Given the description of an element on the screen output the (x, y) to click on. 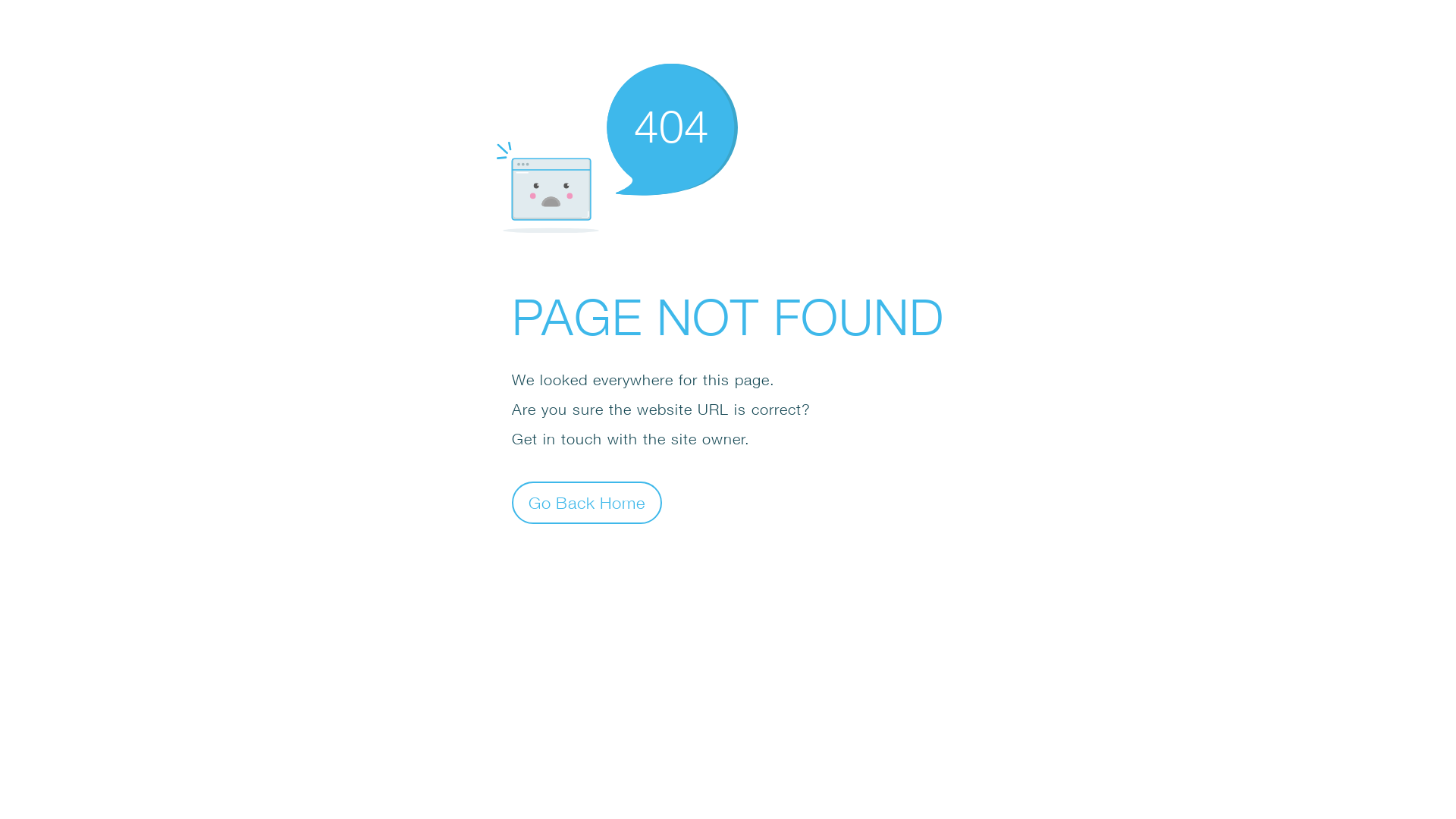
Go Back Home Element type: text (586, 502)
